Given the description of an element on the screen output the (x, y) to click on. 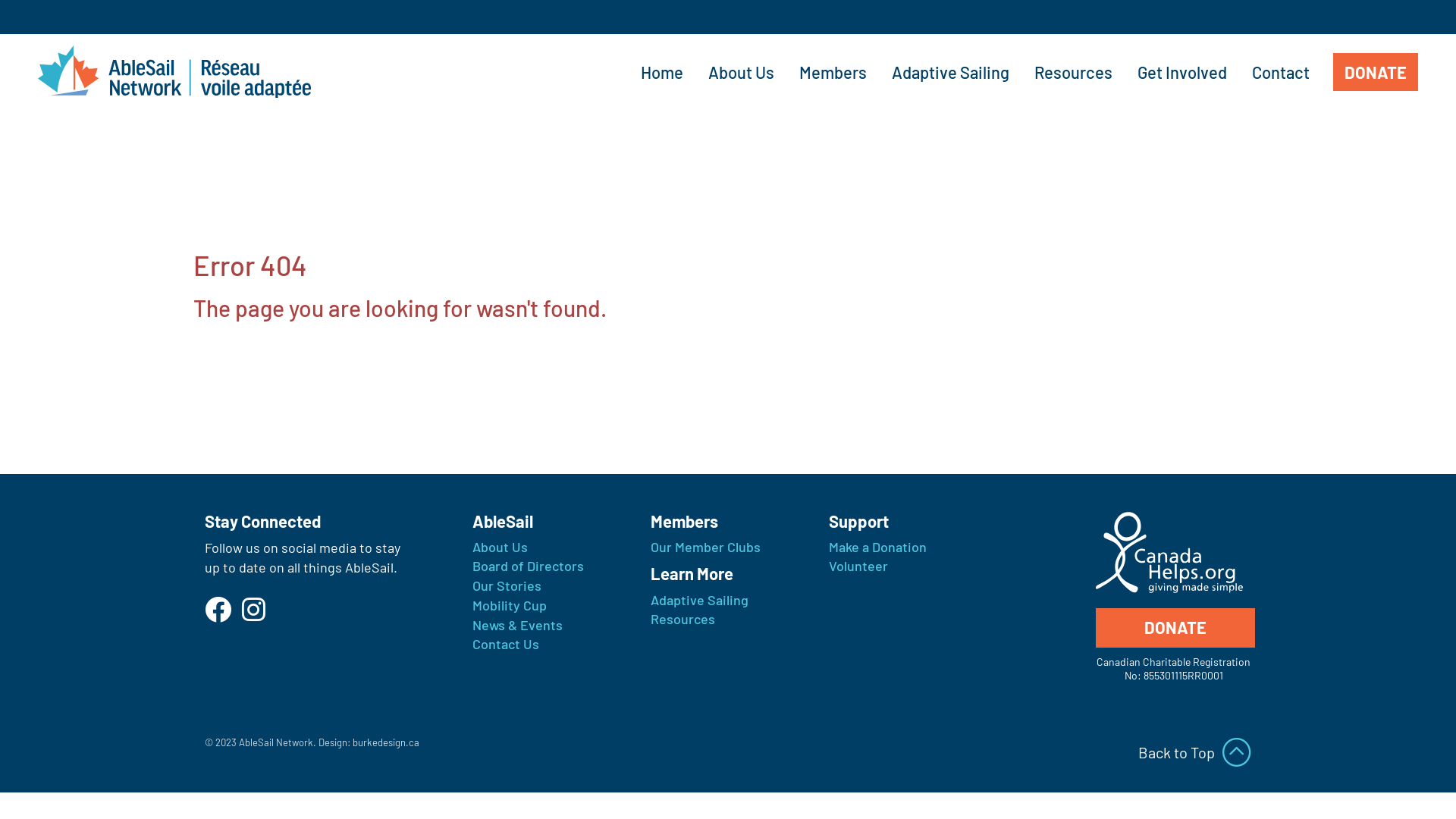
Back to Top Element type: text (1194, 752)
Resources Element type: text (682, 618)
Volunteer Element type: text (857, 565)
Make a Donation Element type: text (876, 546)
DONATE Element type: text (1175, 627)
About Us Element type: text (499, 546)
News & Events Element type: text (516, 624)
burkedesign.ca Element type: text (385, 742)
Get Involved Element type: text (1182, 72)
Home Element type: text (661, 72)
Adaptive Sailing Element type: text (699, 599)
About Us Element type: text (740, 72)
Resources Element type: text (1072, 72)
Board of Directors Element type: text (527, 565)
Adaptive Sailing Element type: text (950, 72)
Our Stories Element type: text (505, 585)
Members Element type: text (832, 72)
Contact Us Element type: text (504, 643)
Mobility Cup Element type: text (508, 604)
DONATE Element type: text (1375, 72)
Contact Element type: text (1280, 72)
Our Member Clubs Element type: text (705, 546)
